Given the description of an element on the screen output the (x, y) to click on. 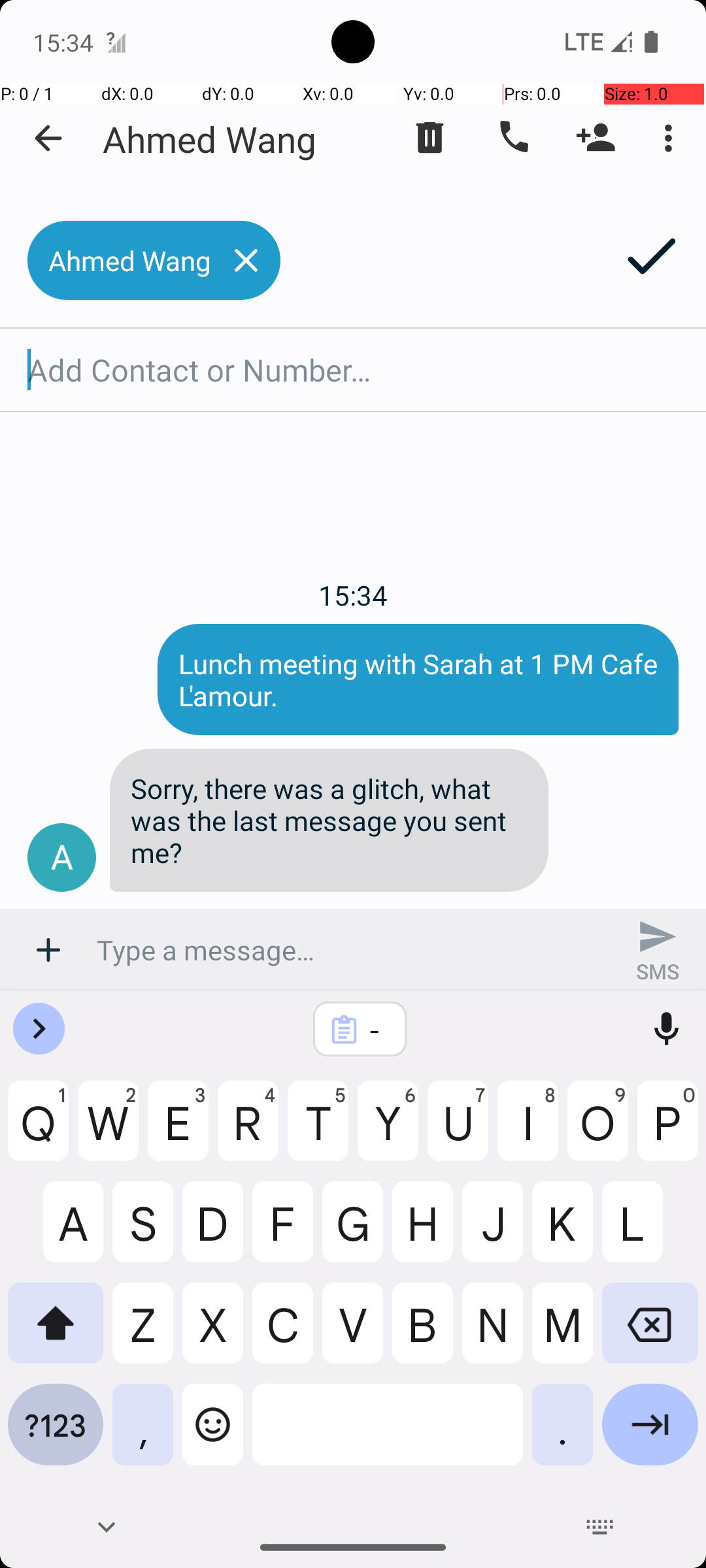
Ahmed Wang Element type: android.widget.TextView (209, 138)
Lunch meeting with Sarah at 1 PM Cafe L'amour. Element type: android.widget.TextView (417, 679)
